Given the description of an element on the screen output the (x, y) to click on. 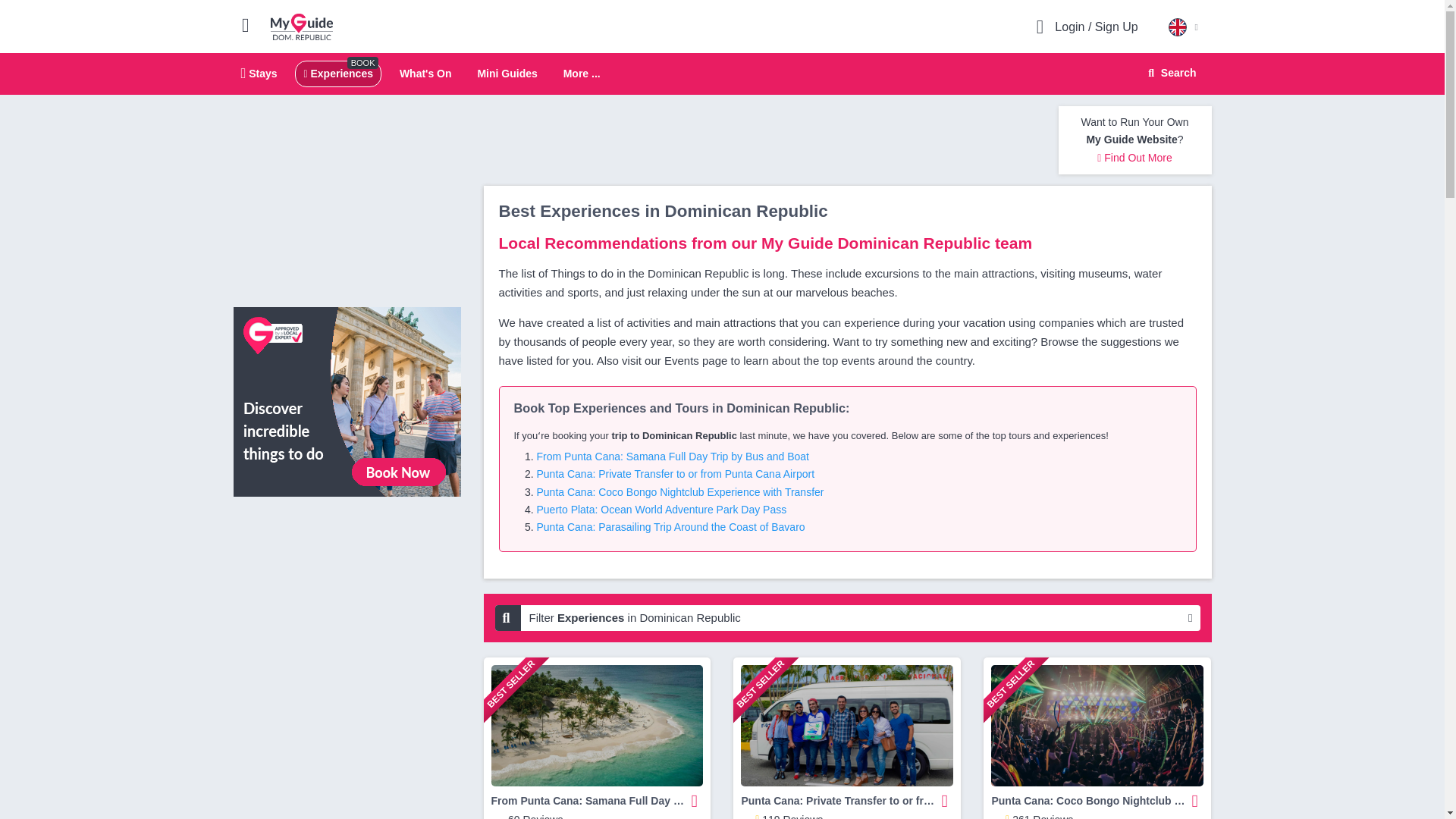
What's On (424, 73)
Mini Guides (507, 73)
My Guide Dominican Republic (301, 25)
Experiences (337, 73)
Search Website (721, 74)
Search (1170, 73)
More ... (1169, 72)
Stays (581, 73)
